Given the description of an element on the screen output the (x, y) to click on. 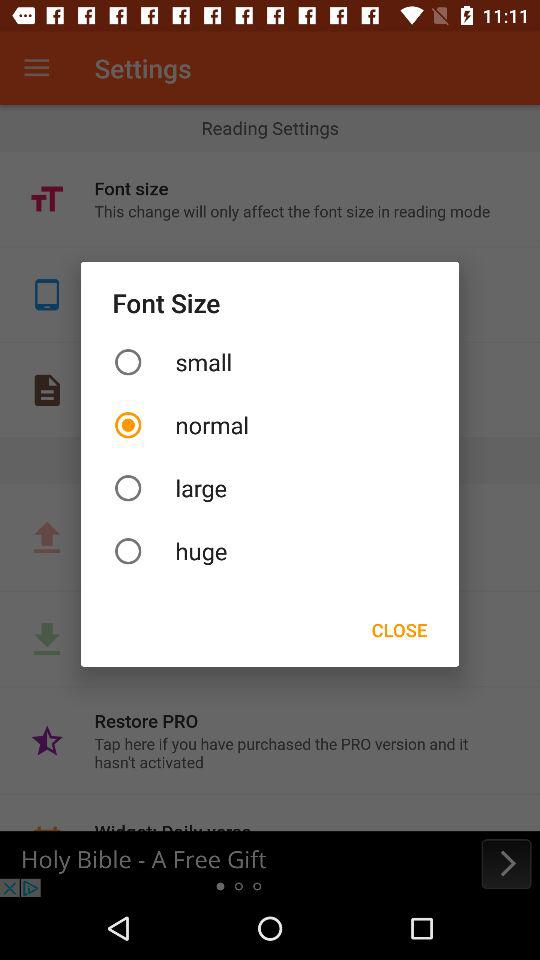
swipe to huge icon (270, 550)
